Given the description of an element on the screen output the (x, y) to click on. 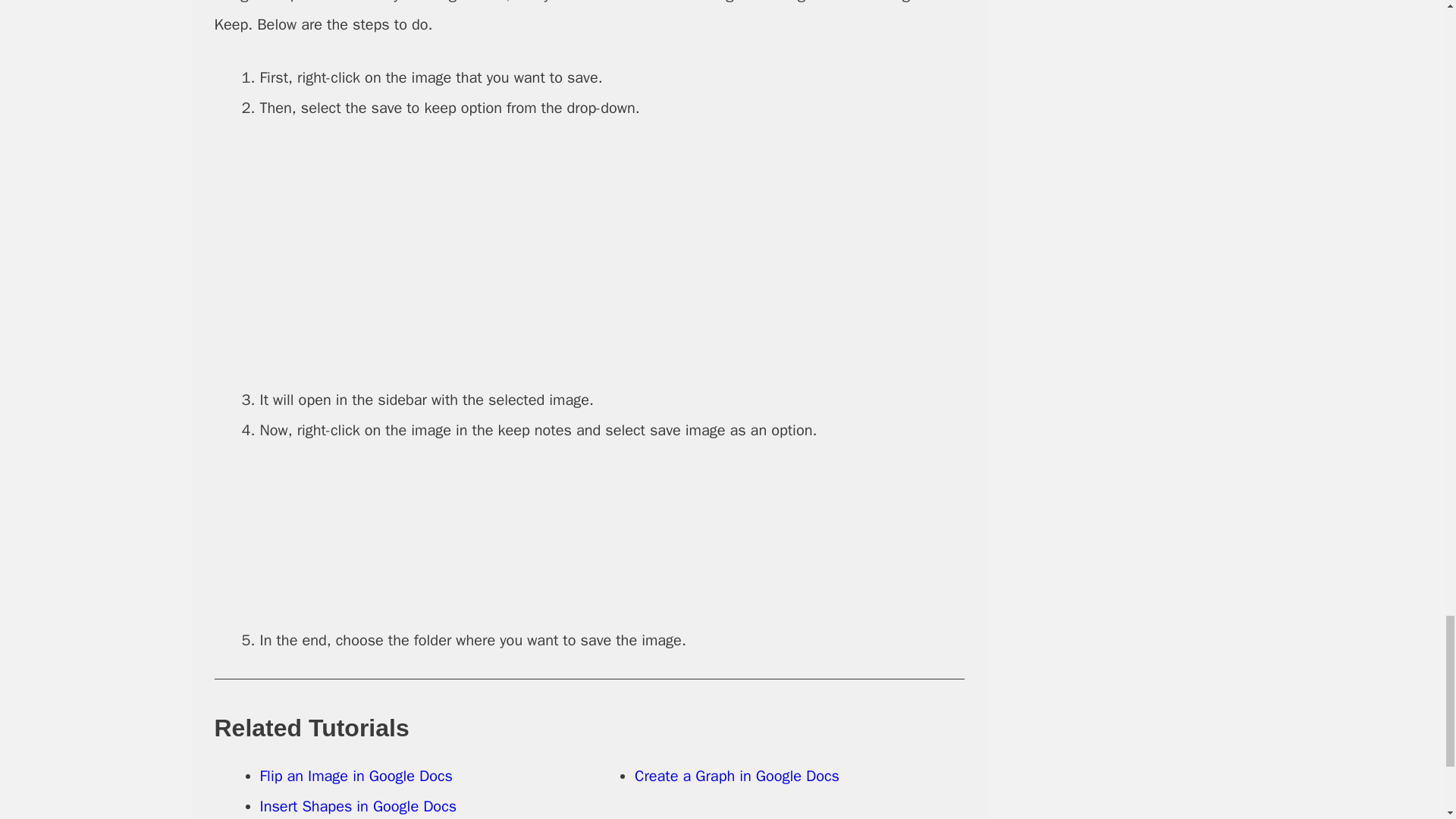
Flip an Image in Google Docs (355, 775)
click-save-image-as (611, 535)
Insert Shapes in Google Docs (358, 805)
Create a Graph in Google Docs (737, 775)
right-click-and-select-save-to-keep (611, 254)
